Given the description of an element on the screen output the (x, y) to click on. 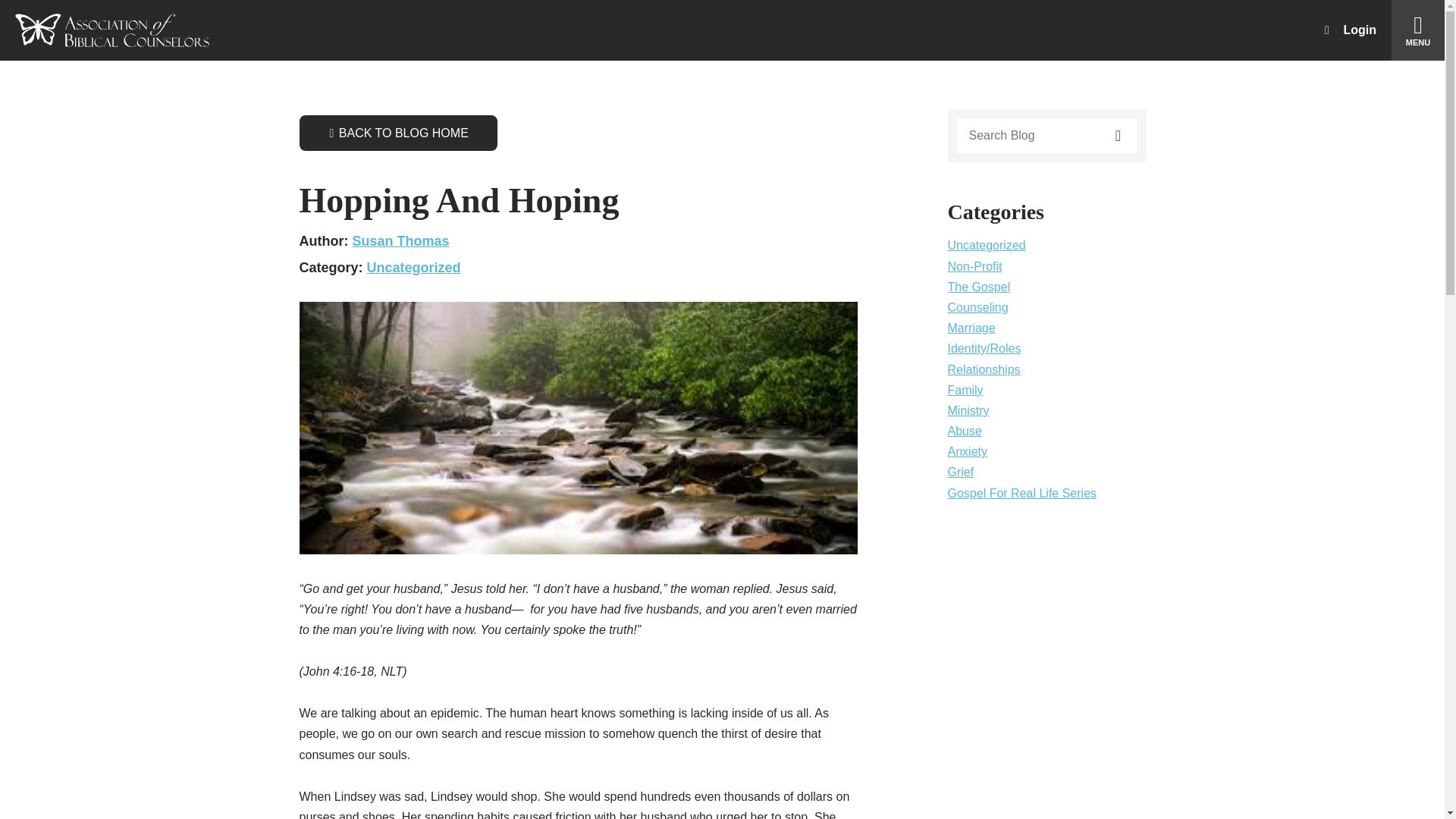
BACK TO BLOG HOME (397, 132)
Association of Biblical Counselors (111, 29)
Login (1349, 29)
